Given the description of an element on the screen output the (x, y) to click on. 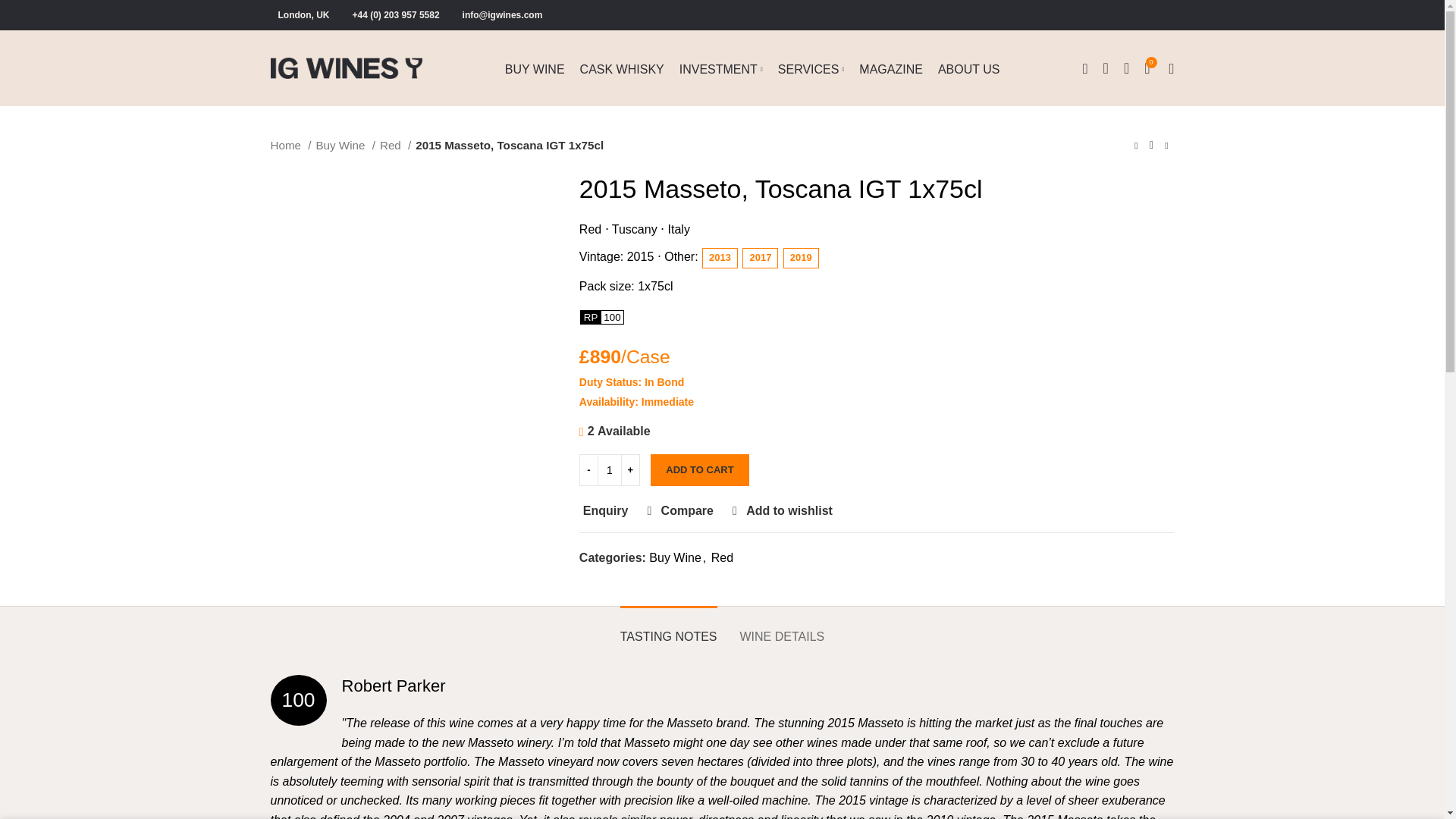
ABOUT US (968, 69)
Red (395, 145)
Home (290, 145)
MAGAZINE (890, 69)
CASK WHISKY (621, 69)
BUY WINE (534, 69)
Buy Wine (344, 145)
INVESTMENT (720, 69)
SERVICES (810, 69)
